Given the description of an element on the screen output the (x, y) to click on. 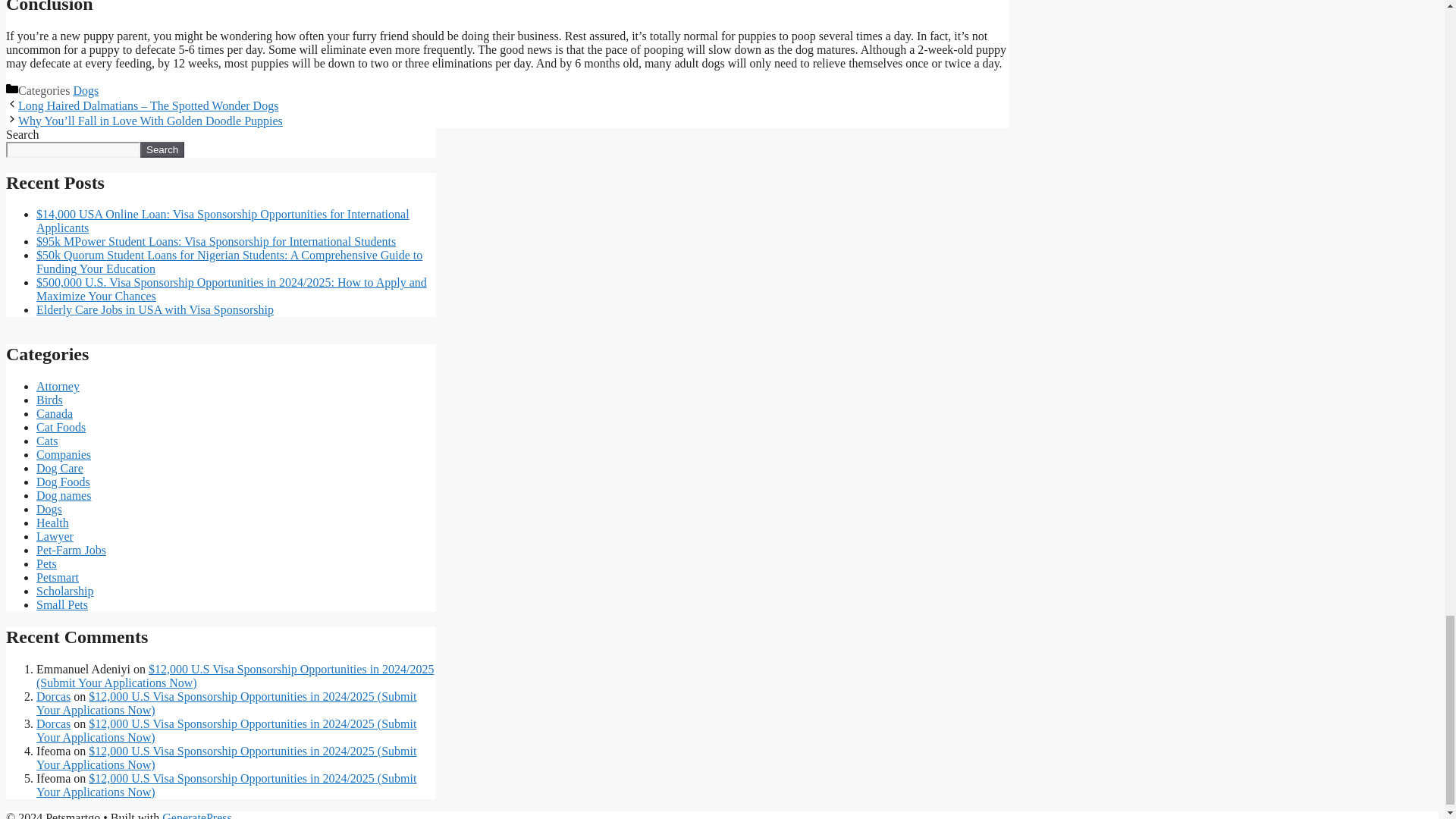
Attorney (58, 386)
Search (161, 149)
Lawyer (55, 535)
Dog Foods (63, 481)
Companies (63, 454)
Elderly Care Jobs in USA with Visa Sponsorship (154, 309)
Canada (54, 413)
Health (52, 522)
Dog names (63, 495)
Birds (49, 399)
